Given the description of an element on the screen output the (x, y) to click on. 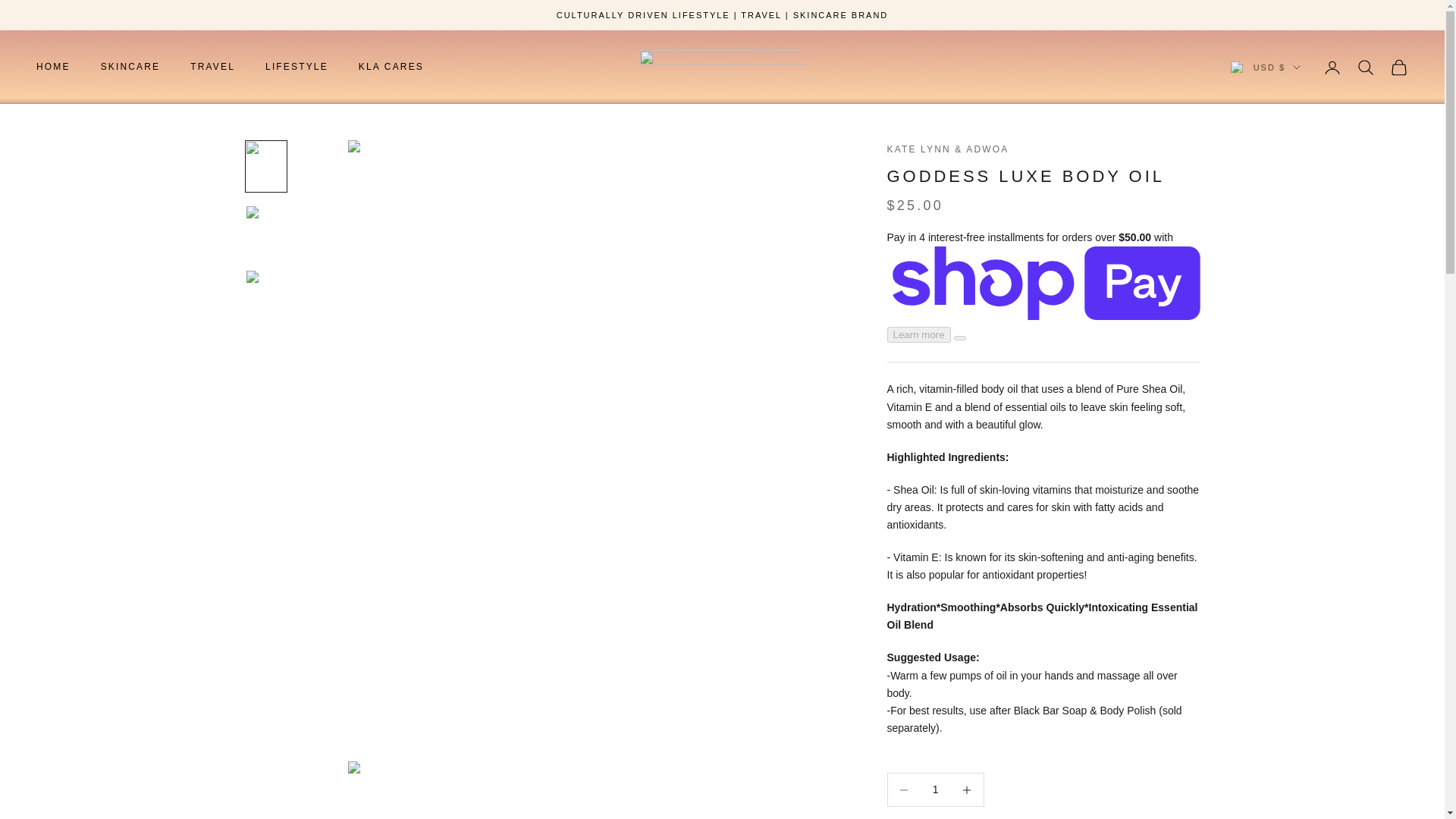
SKINCARE (130, 66)
HOME (52, 66)
KLA CARES (390, 66)
TRAVEL (212, 66)
LIFESTYLE (296, 66)
1 (935, 789)
